Given the description of an element on the screen output the (x, y) to click on. 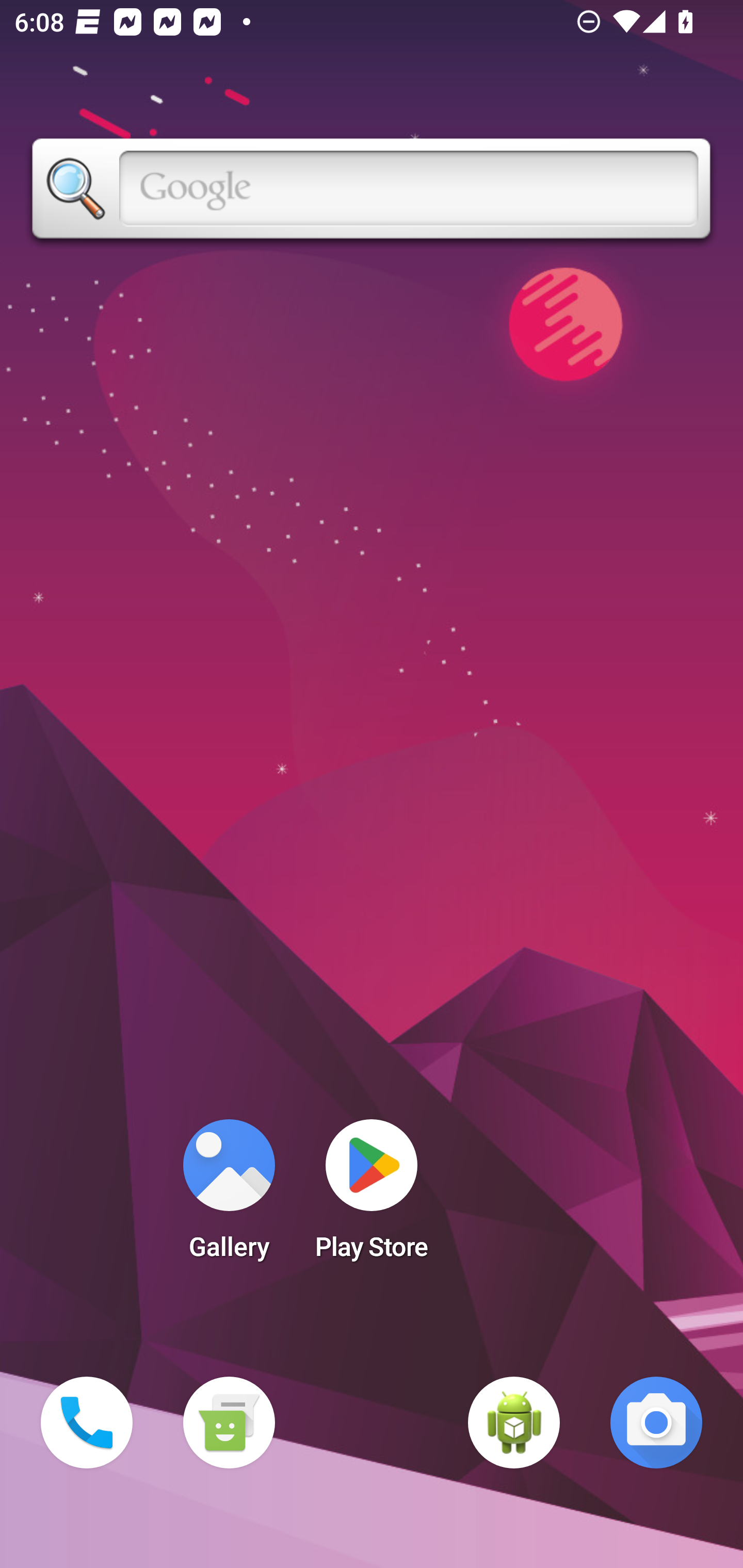
Gallery (228, 1195)
Play Store (371, 1195)
Phone (86, 1422)
Messaging (228, 1422)
WebView Browser Tester (513, 1422)
Camera (656, 1422)
